Given the description of an element on the screen output the (x, y) to click on. 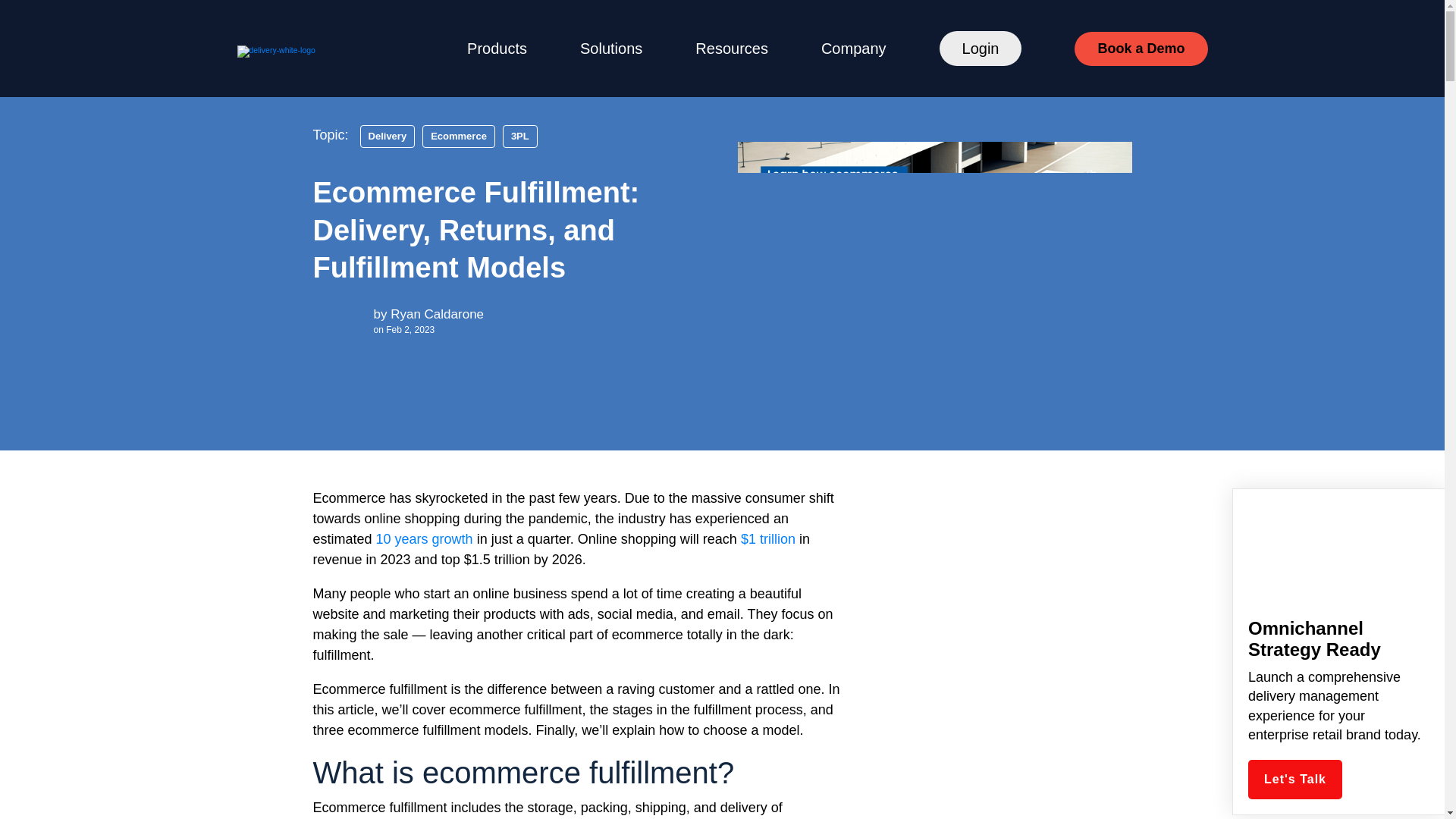
Company (853, 48)
Products (497, 48)
10 years growth (424, 539)
3PL (519, 136)
Solutions (610, 48)
Resources (731, 48)
Book a Demo (1140, 48)
Ryan Caldarone (436, 314)
Delivery (386, 136)
Login (980, 48)
Ecommerce (458, 136)
